Given the description of an element on the screen output the (x, y) to click on. 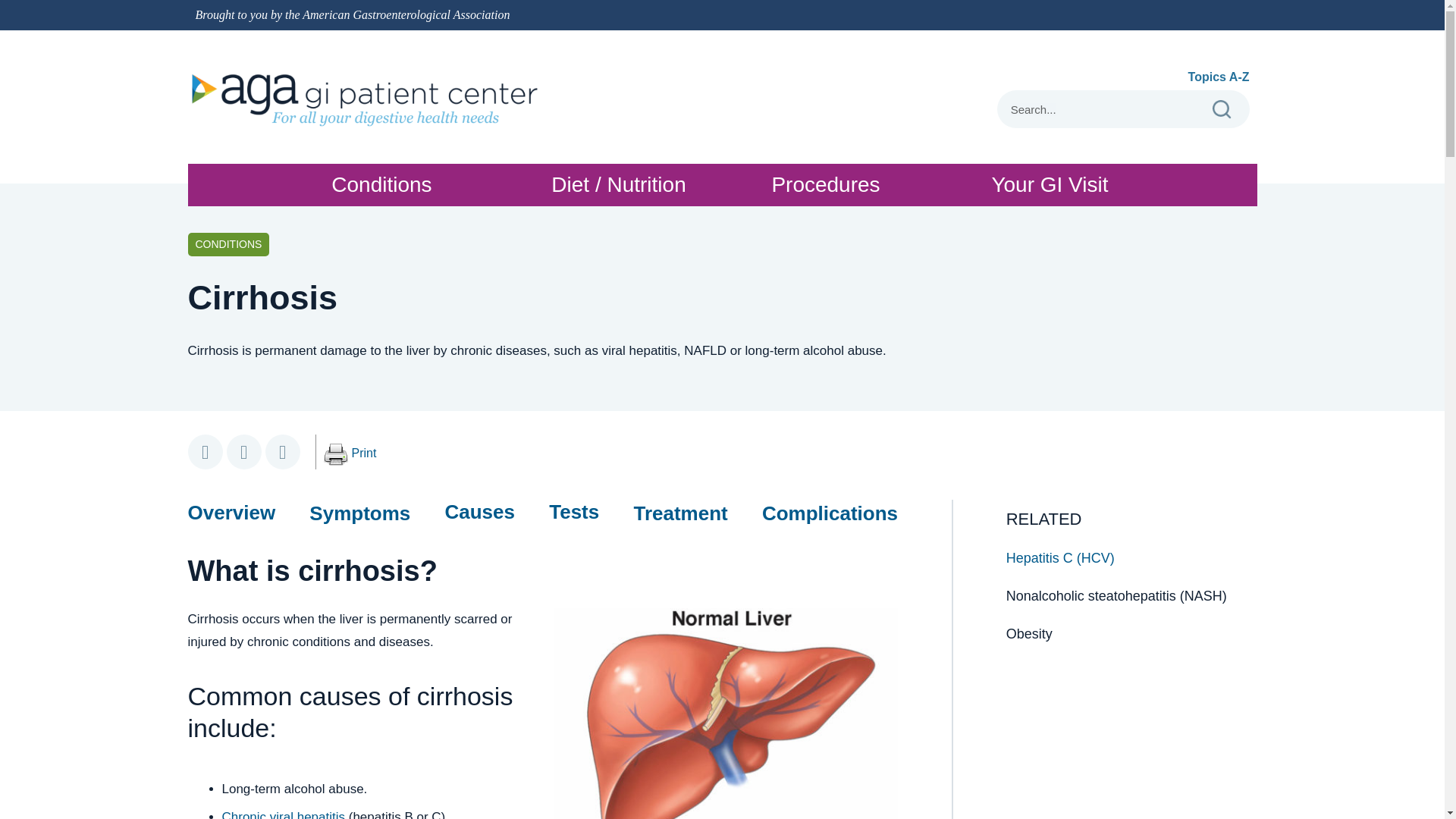
Search (335, 454)
Search (364, 453)
Topics A-Z (1100, 108)
